Given the description of an element on the screen output the (x, y) to click on. 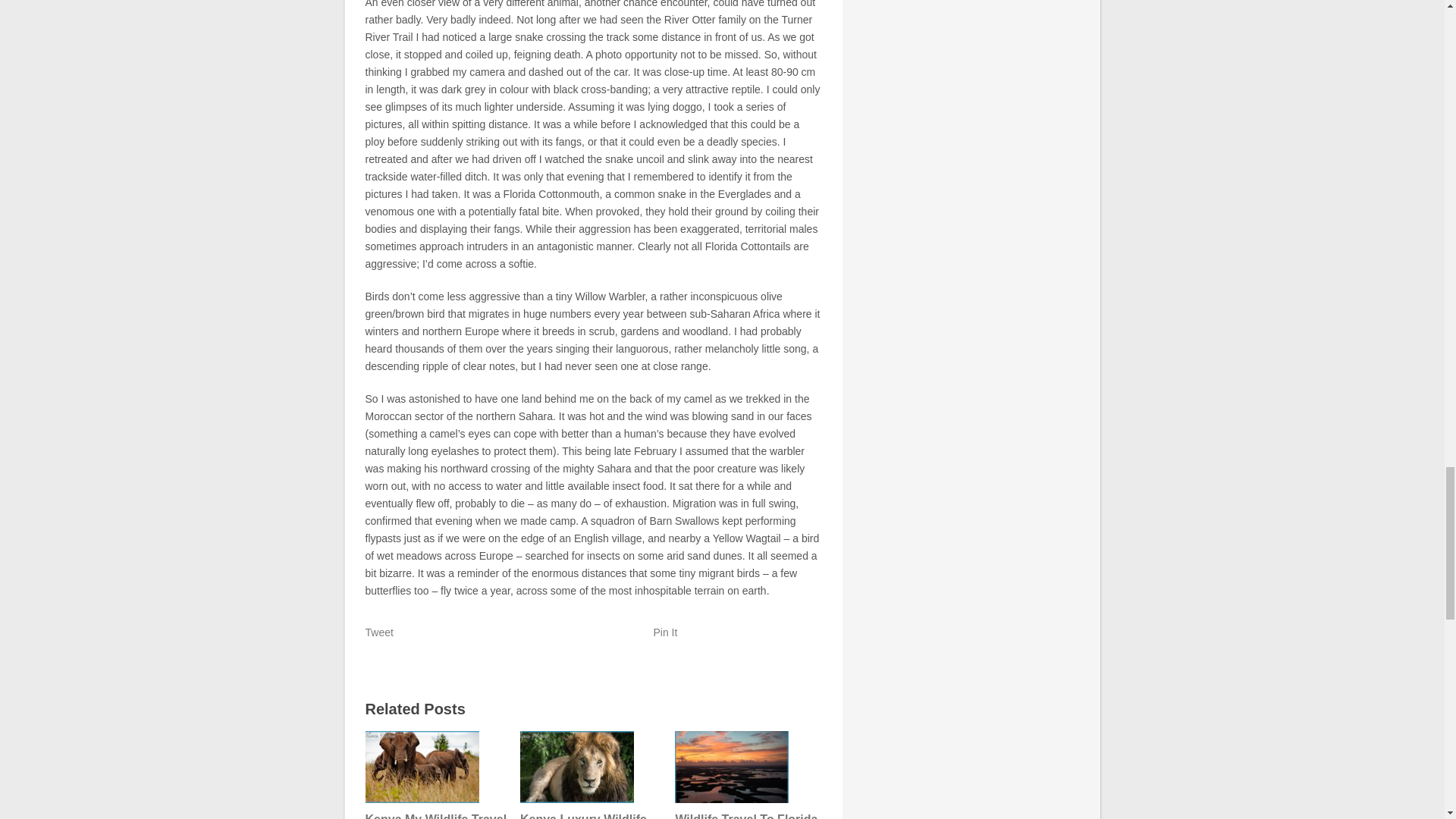
Kenya Luxury Wildlife Travel (591, 775)
Kenya Luxury Wildlife Travel (591, 775)
Tweet (379, 632)
Kenya My Wildlife Travel Story (437, 775)
Wildlife Travel To Florida (746, 775)
Pin It (665, 632)
Kenya My Wildlife Travel Story (437, 775)
Wildlife Travel To Florida (746, 775)
